Given the description of an element on the screen output the (x, y) to click on. 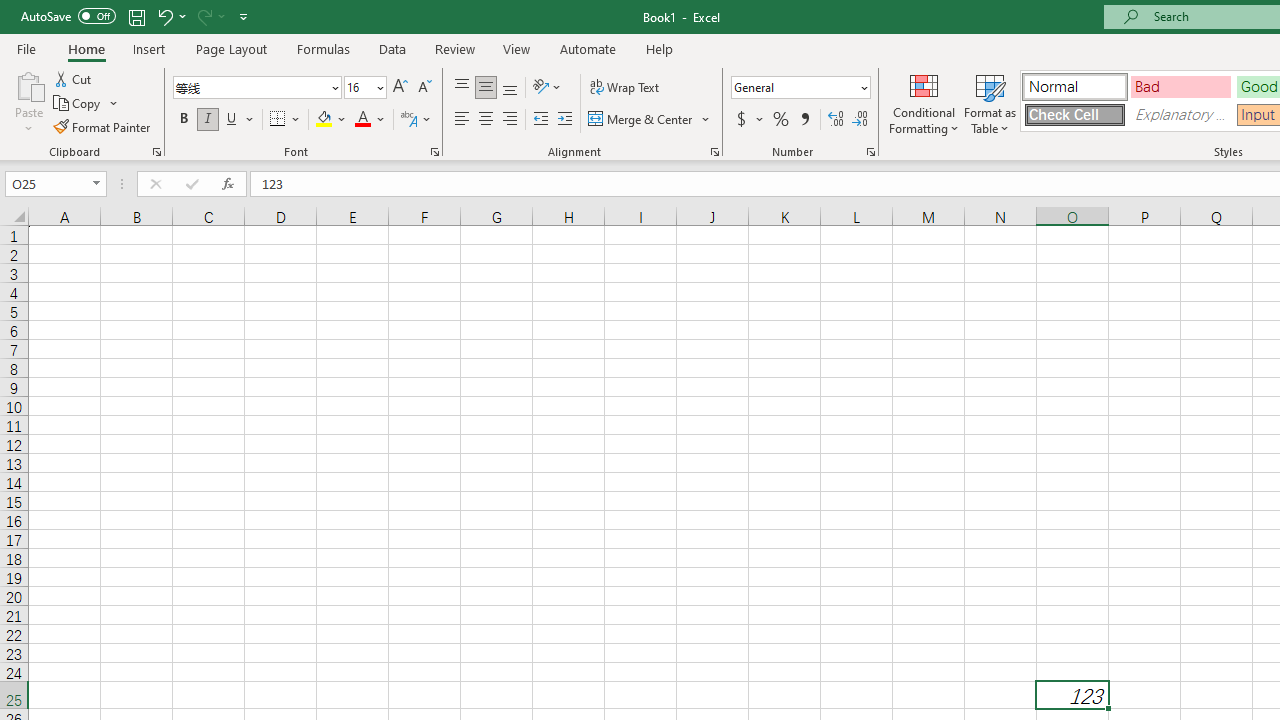
Copy (78, 103)
Orientation (547, 87)
Bold (183, 119)
Align Right (509, 119)
Show Phonetic Field (408, 119)
Merge & Center (641, 119)
Increase Decimal (836, 119)
Number Format (800, 87)
Center (485, 119)
Comma Style (804, 119)
Paste (28, 102)
